Given the description of an element on the screen output the (x, y) to click on. 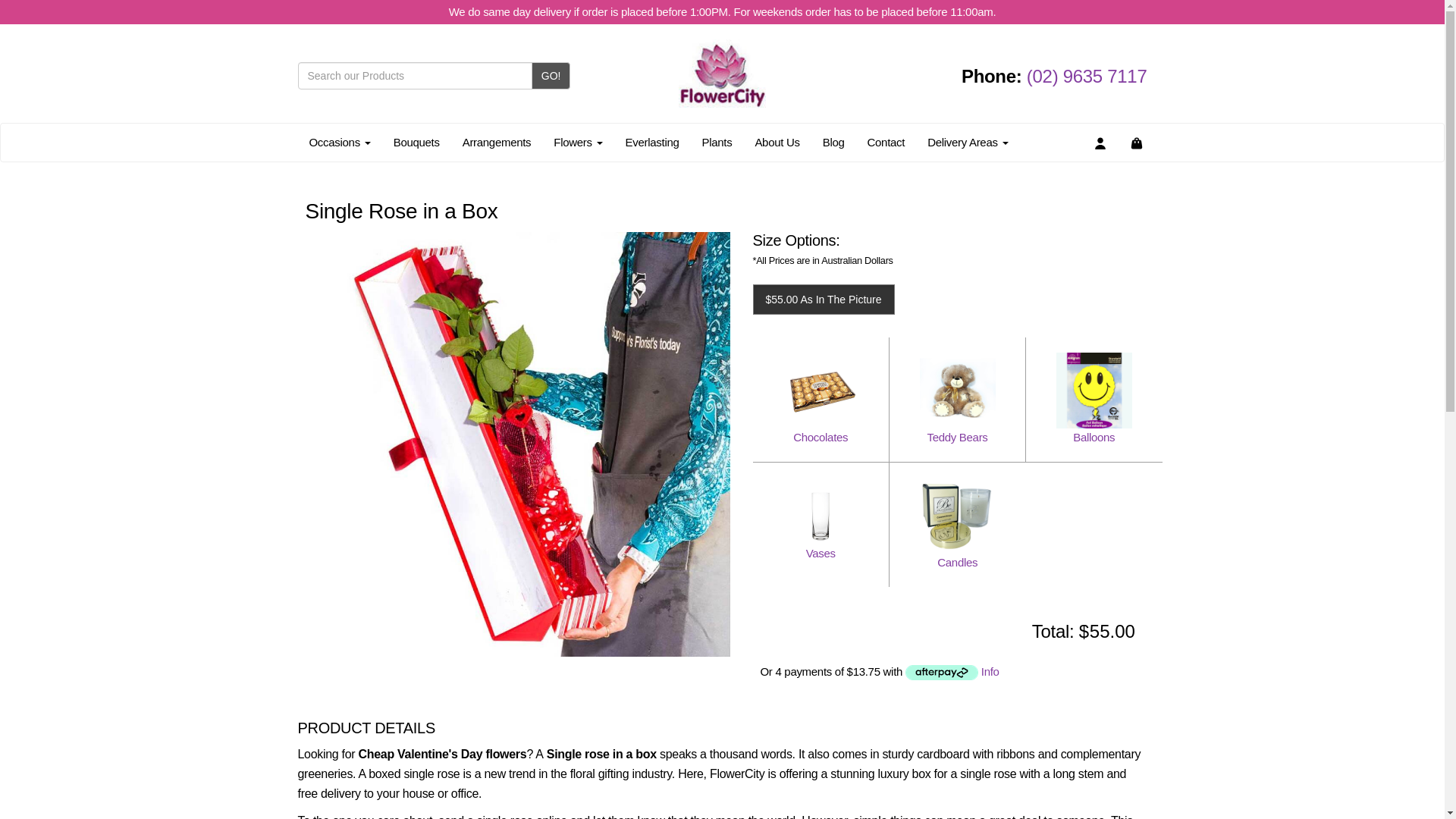
Arrangements (497, 142)
55.00 (1121, 631)
55.00:As in the Picture (770, 300)
Occasions (339, 142)
Flowers (576, 142)
Flower City (722, 73)
GO! (550, 75)
Bouquets (416, 142)
